Given the description of an element on the screen output the (x, y) to click on. 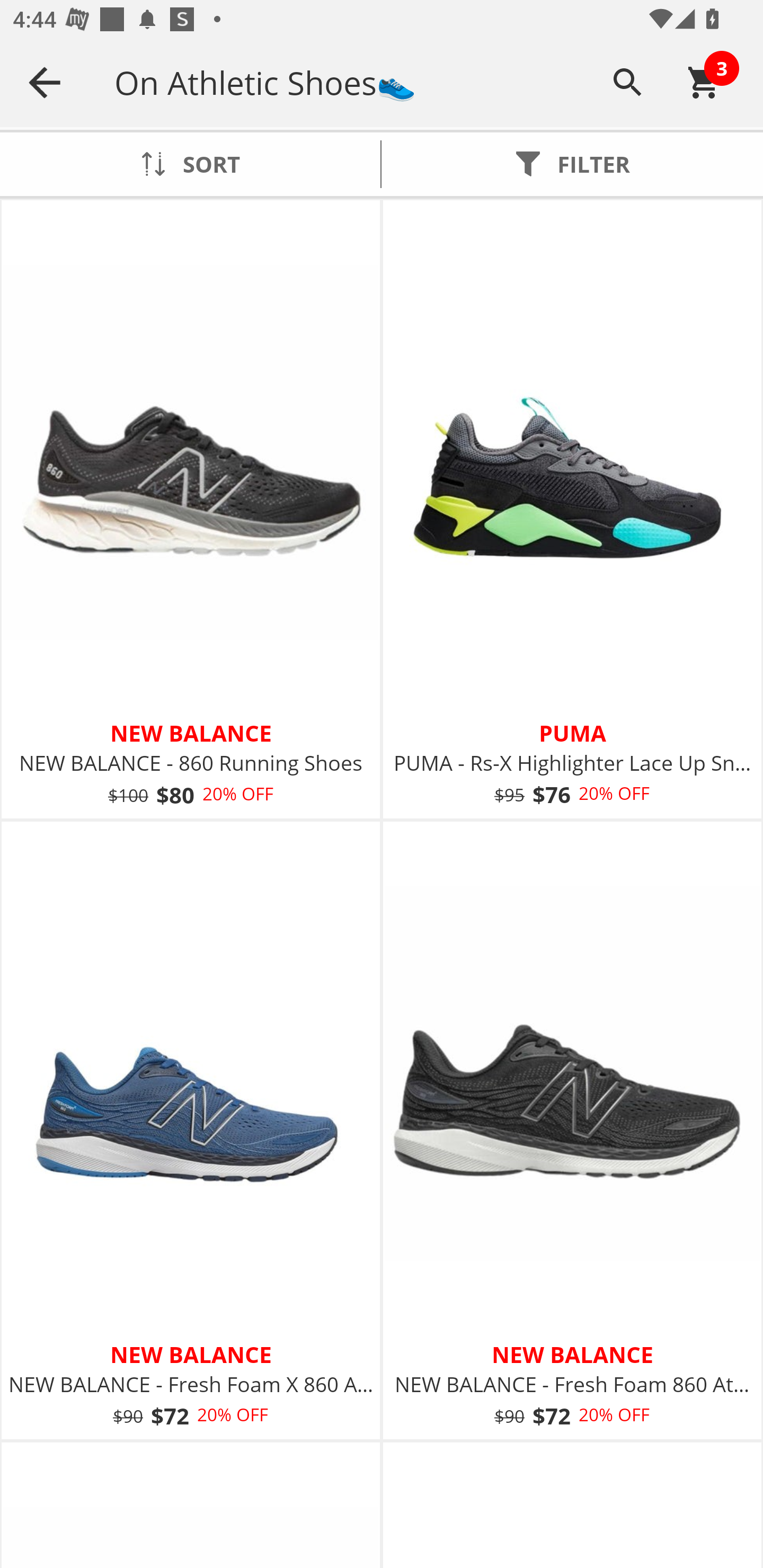
Navigate up (44, 82)
SORT (190, 163)
FILTER (572, 163)
